Given the description of an element on the screen output the (x, y) to click on. 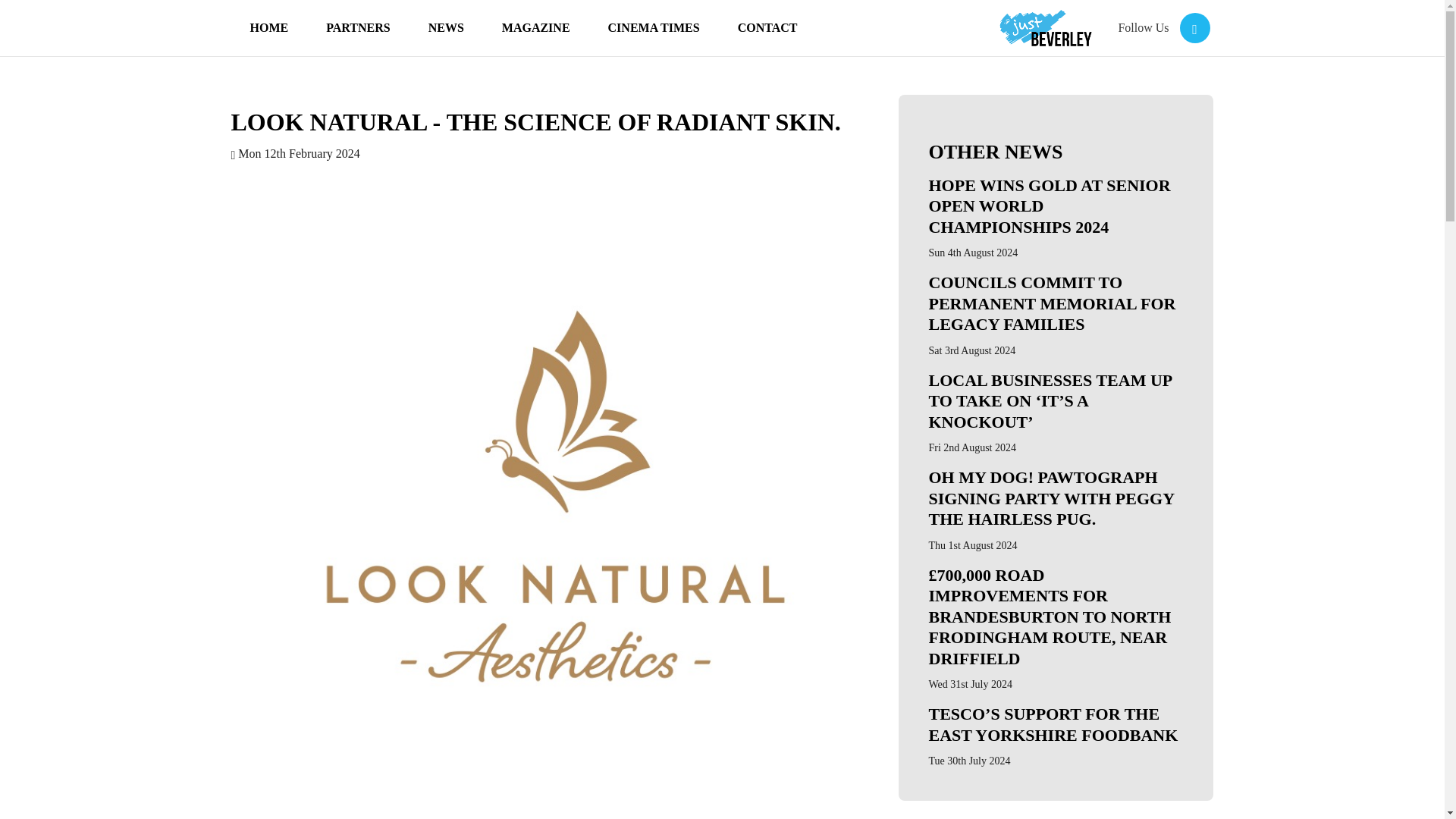
CONTACT (767, 28)
PARTNERS (357, 28)
CINEMA TIMES (653, 28)
MAGAZINE (535, 28)
HOPE WINS GOLD AT SENIOR OPEN WORLD CHAMPIONSHIPS 2024 (1055, 208)
NEWS (446, 28)
HOME (269, 28)
COUNCILS COMMIT TO PERMANENT MEMORIAL FOR LEGACY FAMILIES (1055, 306)
